Given the description of an element on the screen output the (x, y) to click on. 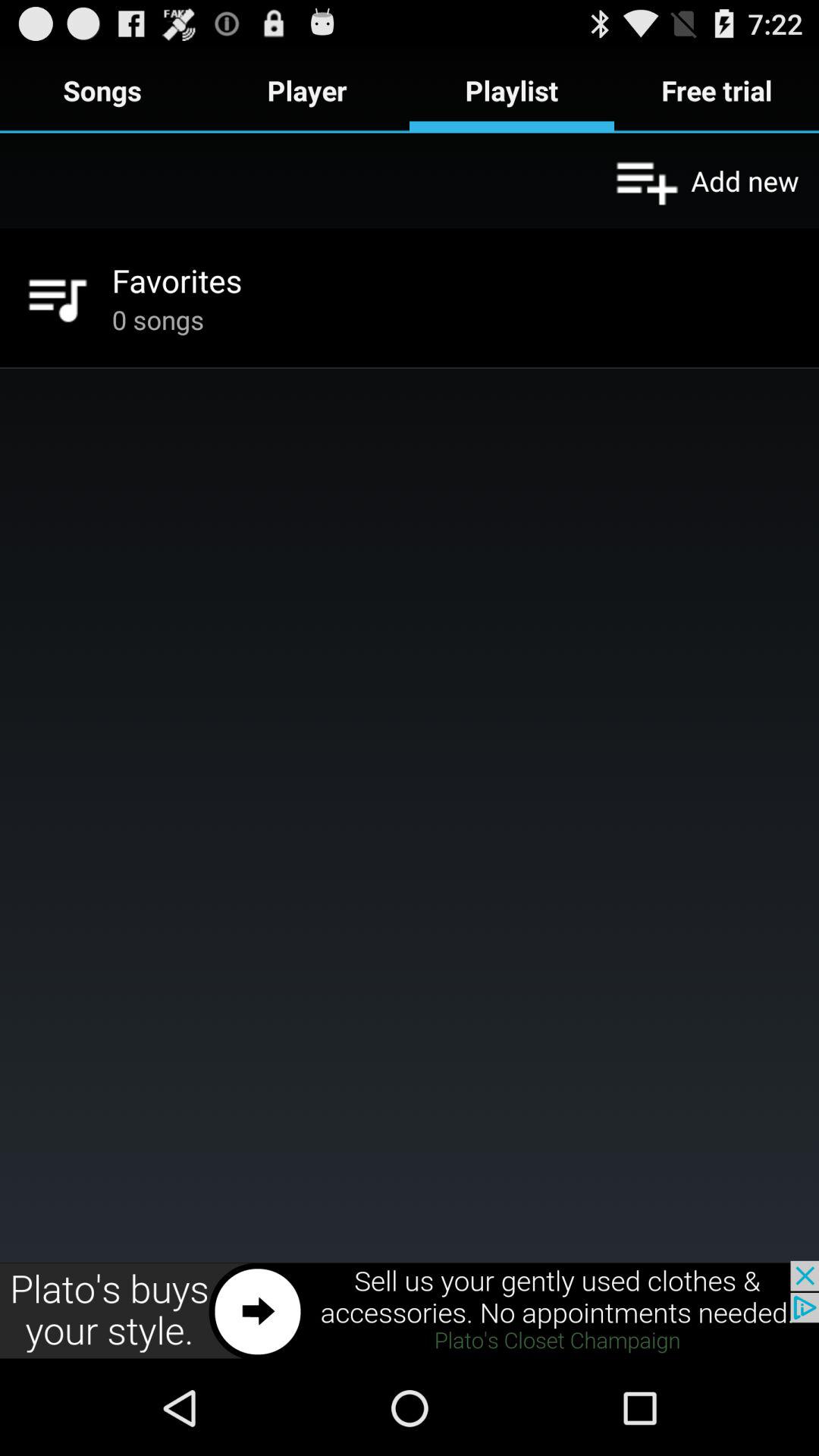
access advertisement (409, 1310)
